Given the description of an element on the screen output the (x, y) to click on. 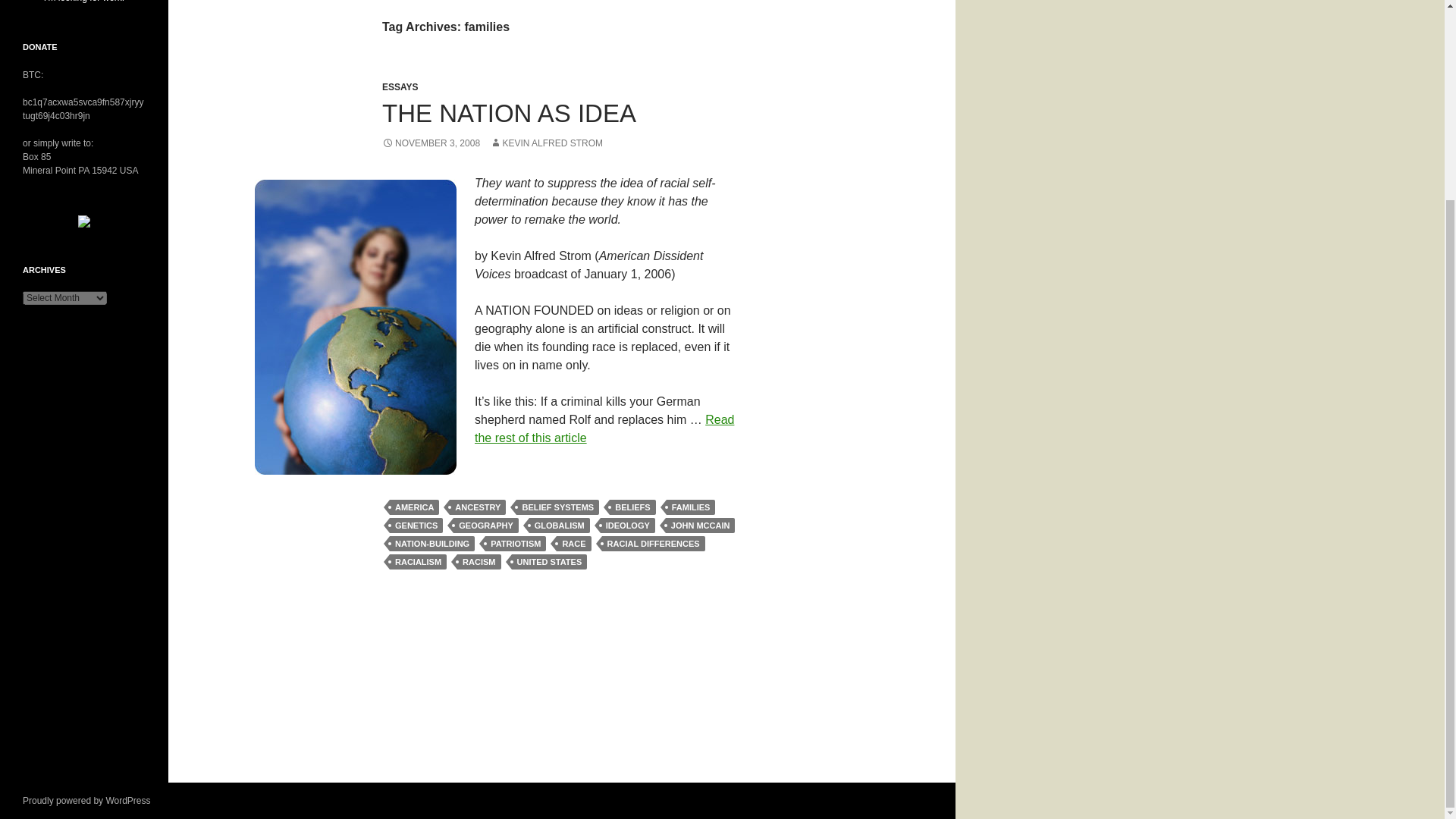
ESSAYS (400, 86)
GENETICS (416, 525)
I'm looking for work. (83, 1)
AMERICA (414, 507)
UNITED STATES (548, 561)
GEOGRAPHY (485, 525)
NATION-BUILDING (432, 543)
ANCESTRY (477, 507)
THE NATION AS IDEA (508, 113)
Proudly powered by WordPress (87, 800)
NOVEMBER 3, 2008 (430, 143)
JOHN MCCAIN (700, 525)
BELIEFS (632, 507)
PATRIOTISM (515, 543)
RACIALISM (418, 561)
